Given the description of an element on the screen output the (x, y) to click on. 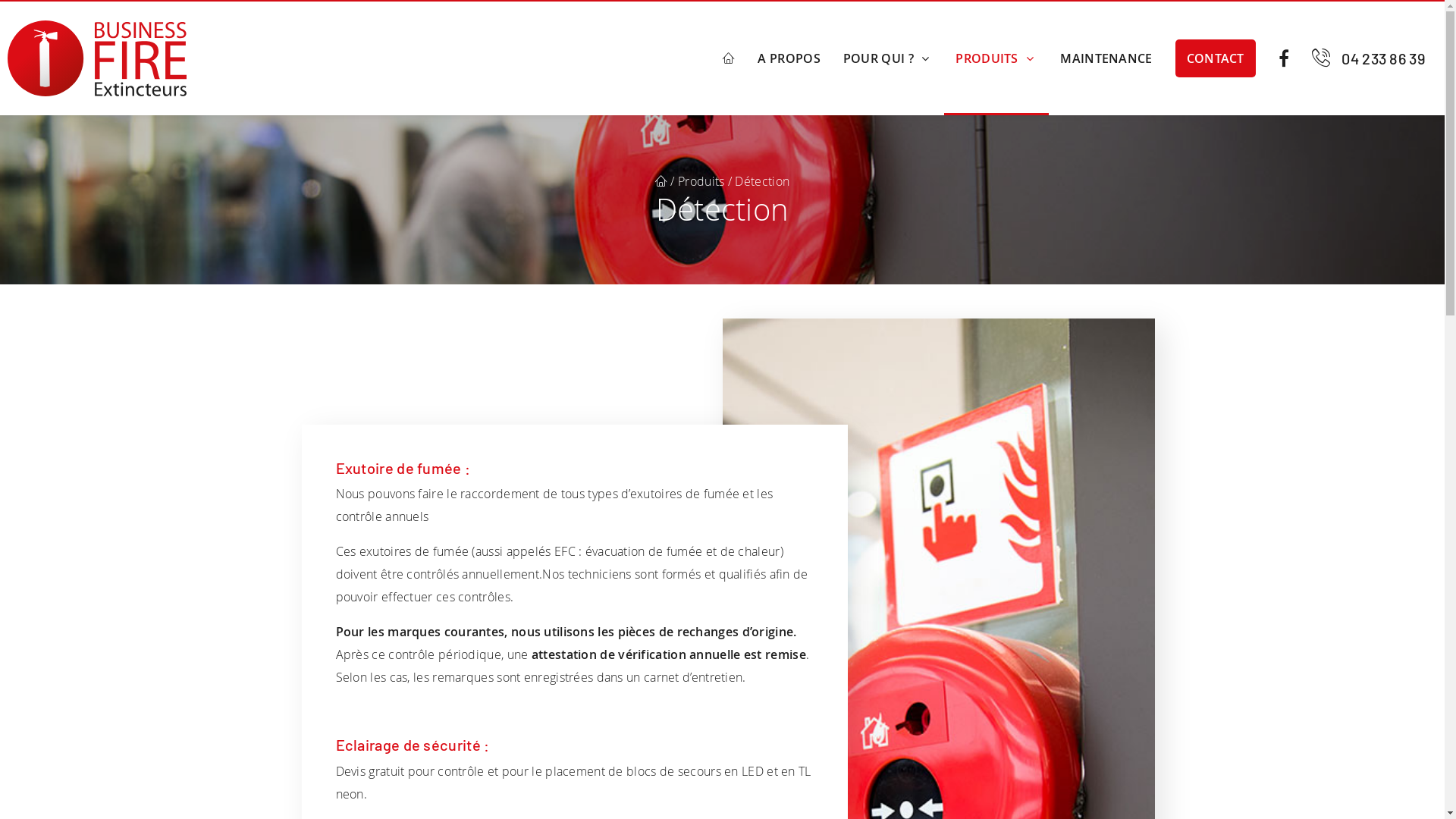
A PROPOS Element type: text (788, 58)
POUR QUI ? Element type: text (887, 58)
CONTACT Element type: text (1215, 58)
04 233 86 39 Element type: text (1368, 58)
Produits Element type: text (700, 180)
MAINTENANCE Element type: text (1105, 58)
PRODUITS Element type: text (996, 58)
